Given the description of an element on the screen output the (x, y) to click on. 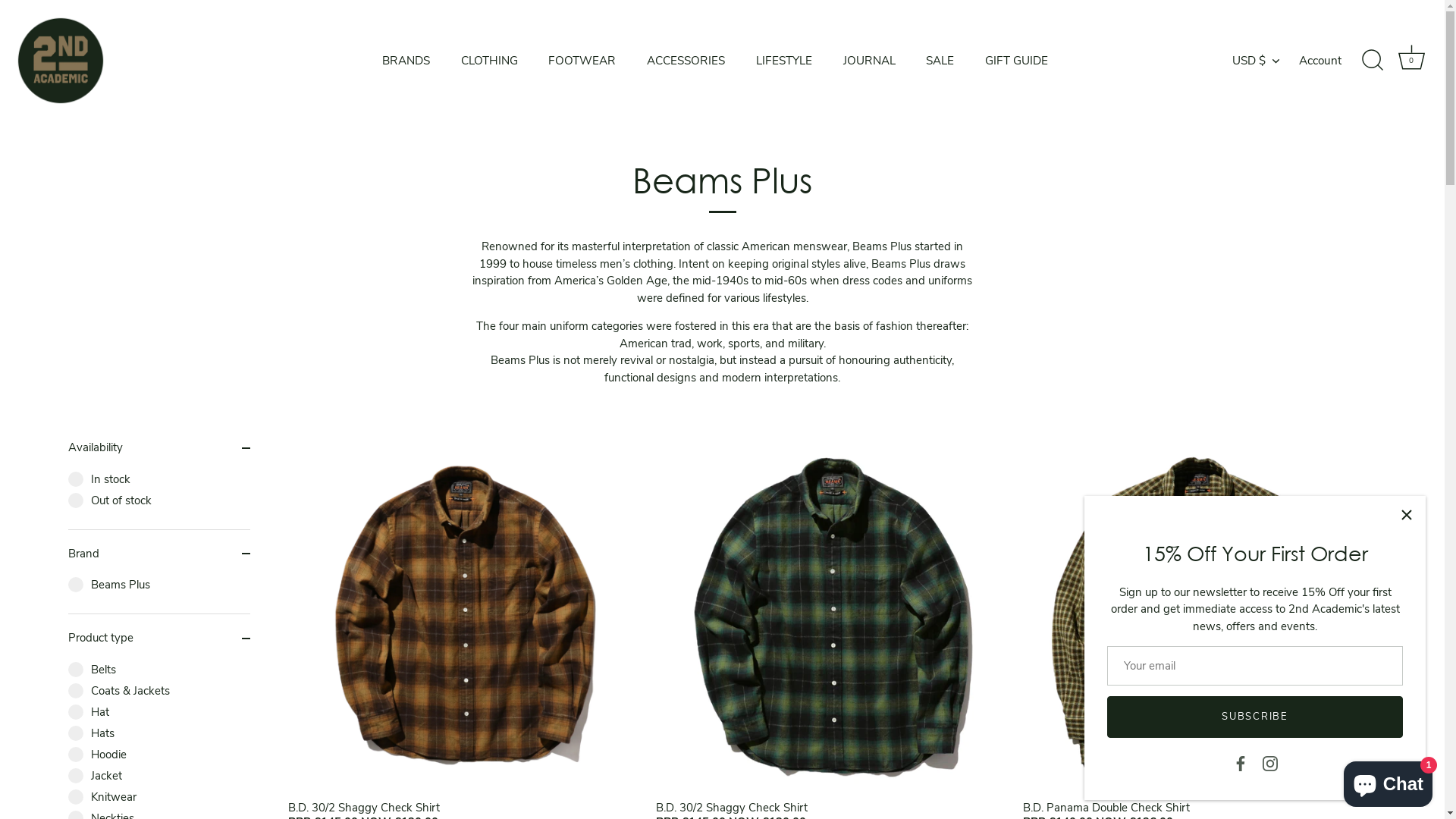
BRANDS Element type: text (406, 60)
LIFESTYLE Element type: text (783, 60)
SUBSCRIBE Element type: text (1254, 716)
Shopify online store chat Element type: hover (1388, 780)
GIFT GUIDE Element type: text (1016, 60)
Account Element type: text (1333, 60)
USD $ Element type: text (1263, 60)
SALE Element type: text (940, 60)
Instagram Element type: text (1269, 762)
CLOTHING Element type: text (488, 60)
Cart
0 Element type: text (1410, 60)
ACCESSORIES Element type: text (686, 60)
FOOTWEAR Element type: text (582, 60)
JOURNAL Element type: text (868, 60)
